Given the description of an element on the screen output the (x, y) to click on. 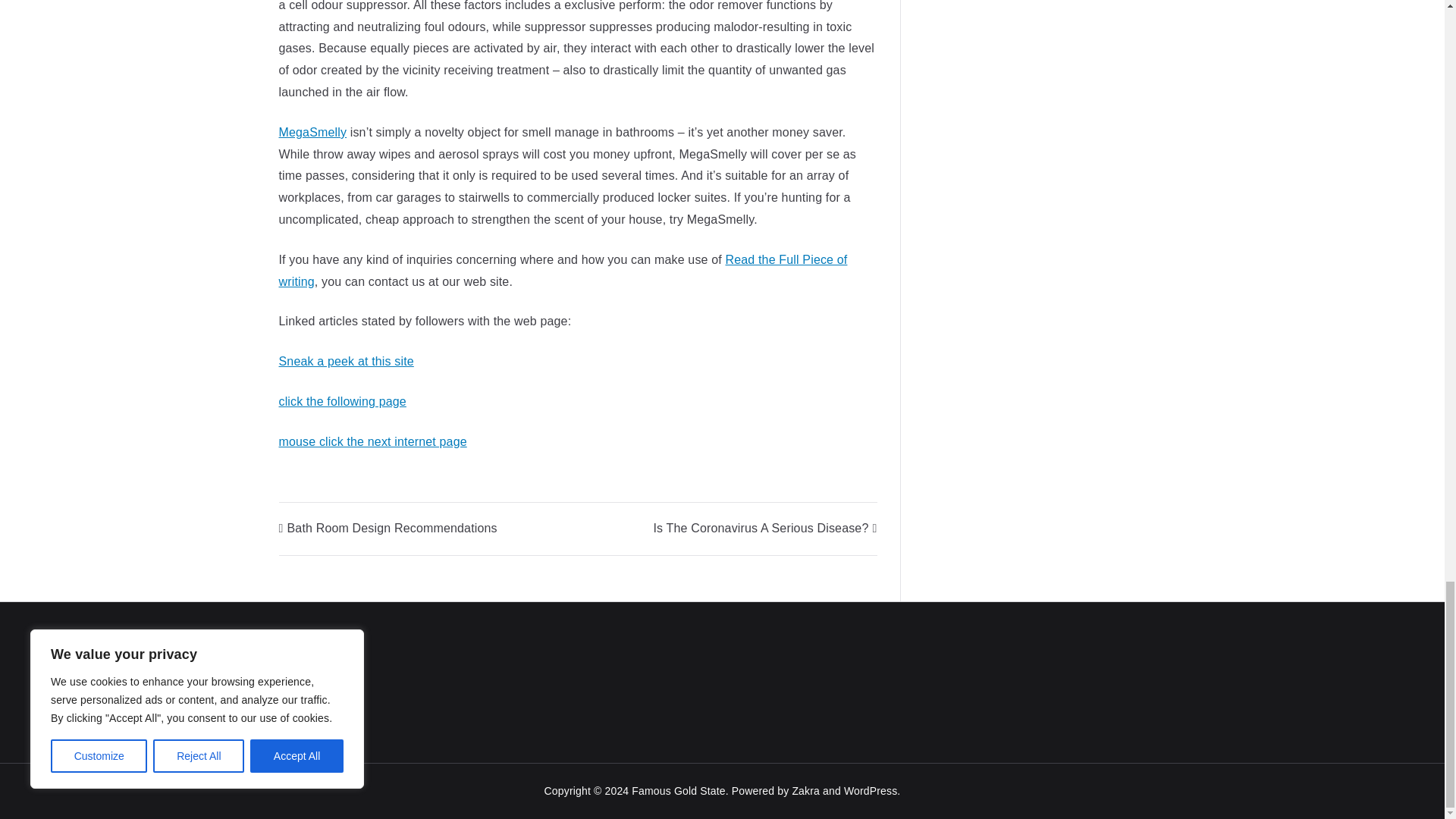
Sneak a peek at this site (346, 360)
MegaSmelly (313, 132)
Bath Room Design Recommendations (388, 527)
mouse click the next internet page (373, 440)
click the following page (342, 400)
WordPress (870, 790)
Zakra (805, 790)
Is The Coronavirus A Serious Disease? (764, 527)
Famous Gold State (678, 790)
Read the Full Piece of writing (563, 270)
